Given the description of an element on the screen output the (x, y) to click on. 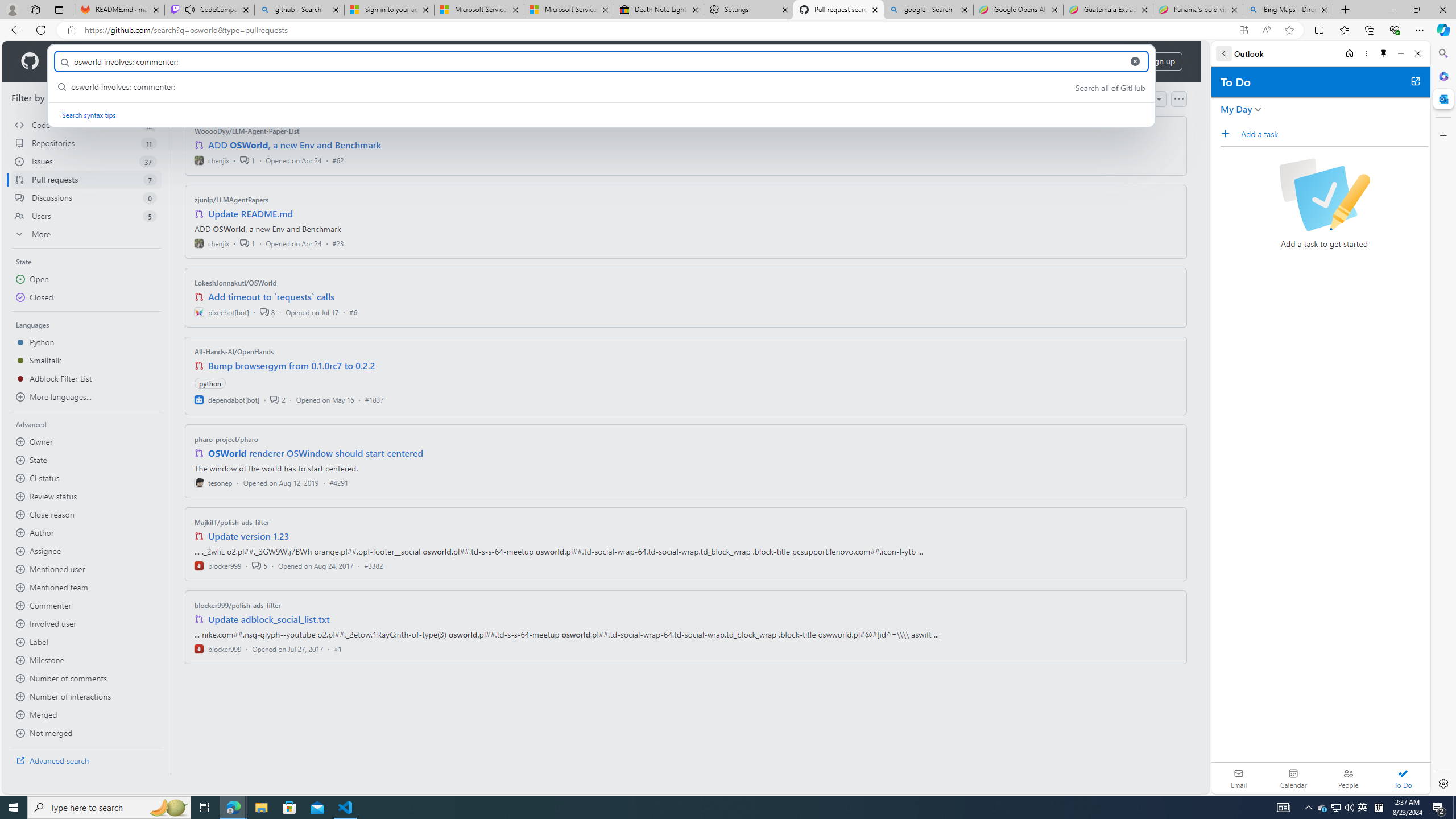
WooooDyy/LLM-Agent-Paper-List (247, 130)
Resources (187, 60)
#6 (352, 311)
#1 (337, 648)
Advanced search (86, 760)
LokeshJonnakuti/OSWorld (235, 282)
Draggable pane splitter (169, 427)
